Given the description of an element on the screen output the (x, y) to click on. 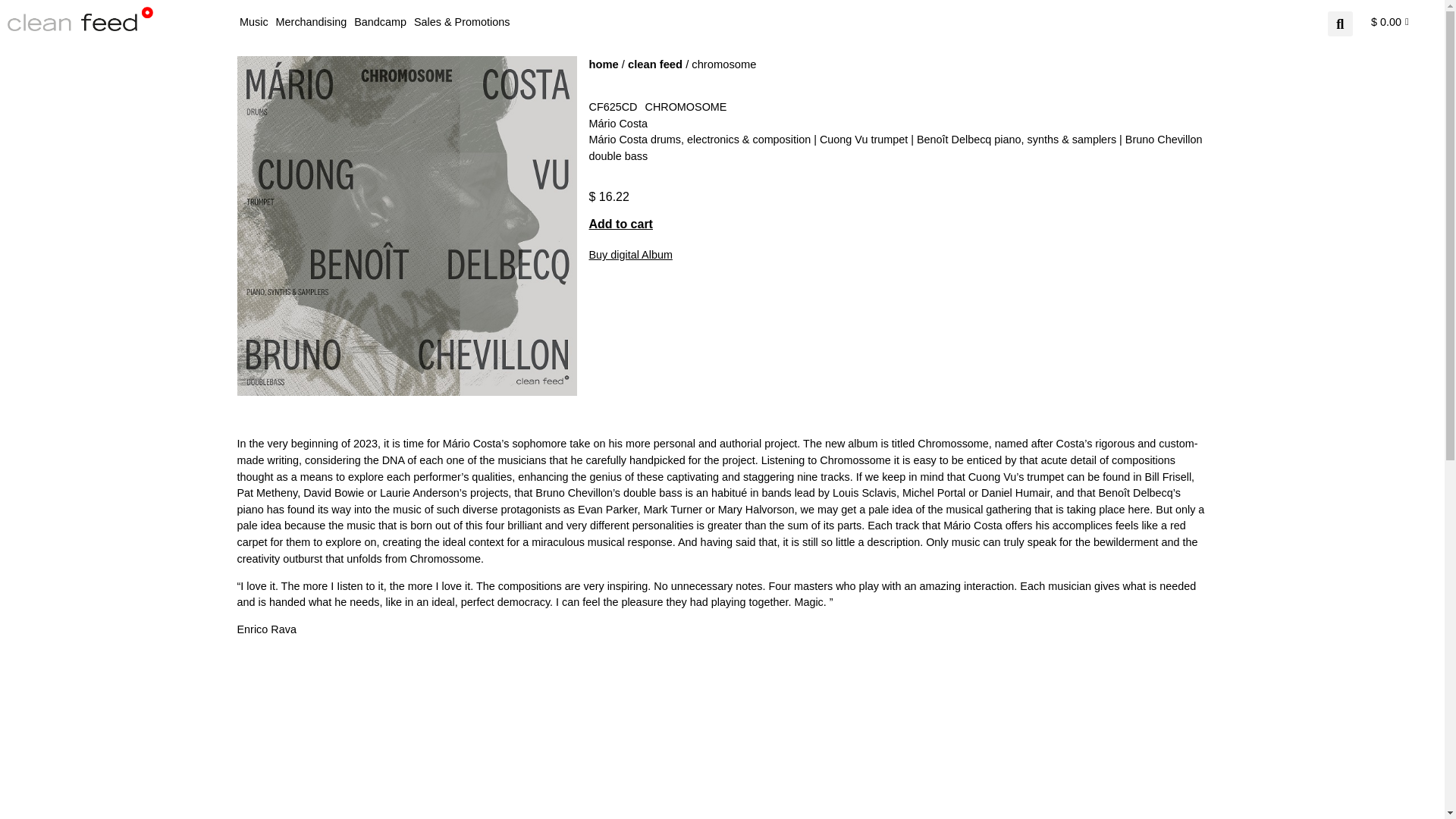
Music (253, 21)
clean feed (654, 64)
home (602, 64)
Merchandising (311, 21)
Add to cart (620, 223)
Bandcamp (379, 21)
